Given the description of an element on the screen output the (x, y) to click on. 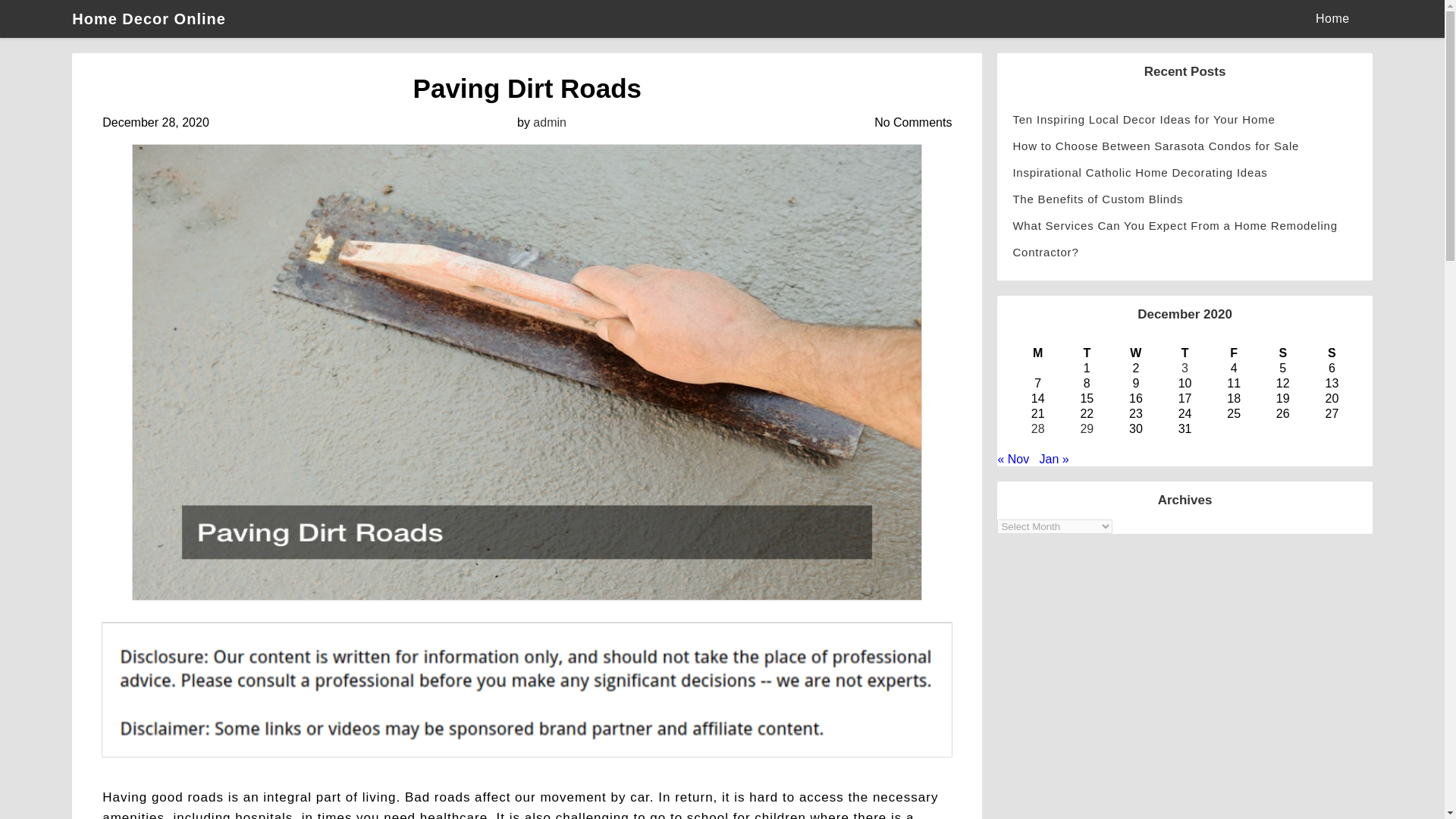
Home (1332, 18)
admin (549, 122)
Tuesday (1086, 353)
No Comments (913, 122)
The Benefits of Custom Blinds (1183, 198)
Monday (1037, 353)
Thursday (1184, 353)
Saturday (1282, 353)
28 (1037, 428)
